Given the description of an element on the screen output the (x, y) to click on. 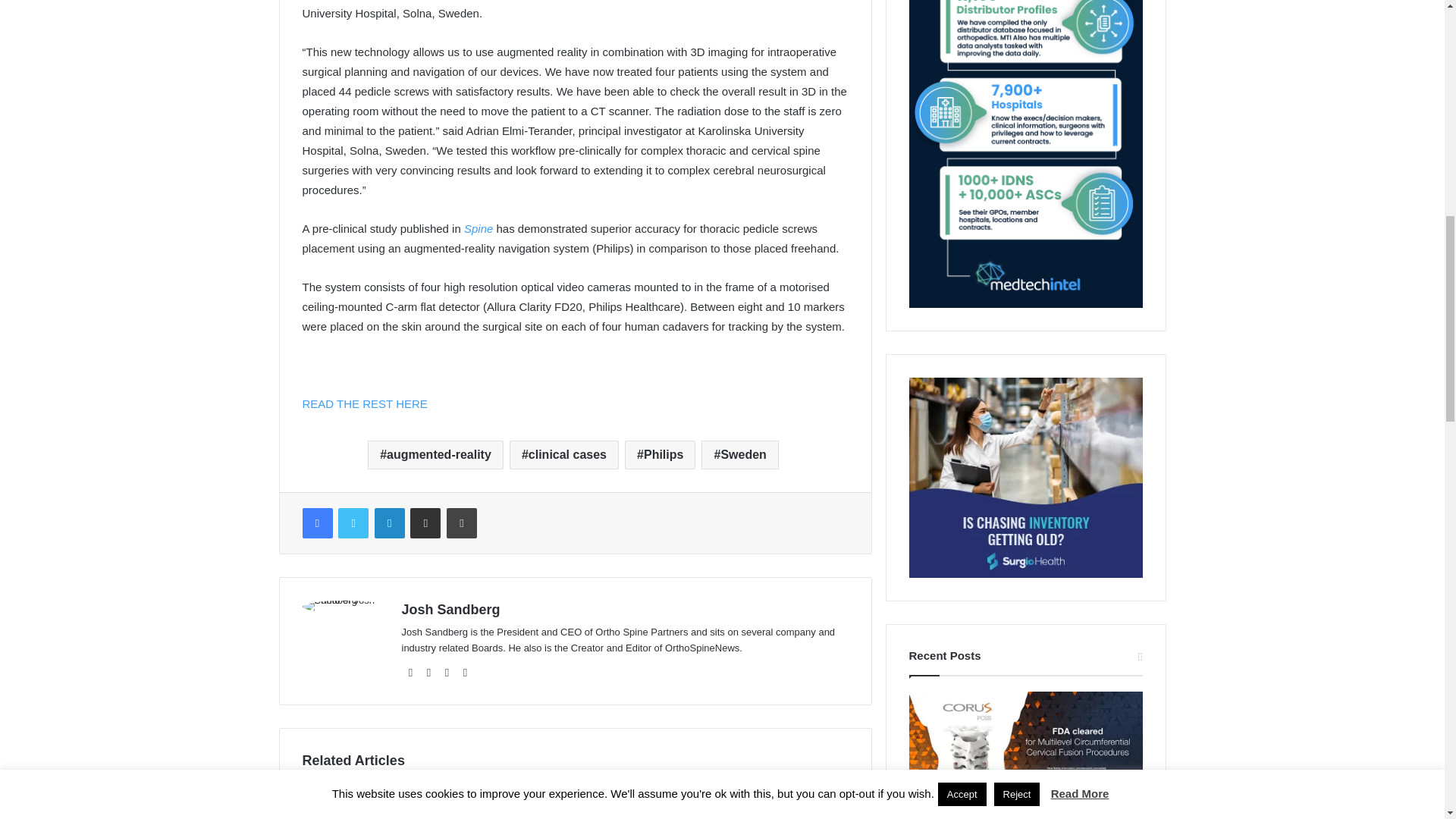
Spine (480, 228)
READ THE REST HERE (363, 403)
augmented-reality (435, 454)
clinical cases (563, 454)
LinkedIn (389, 522)
Facebook (316, 522)
Share via Email (425, 522)
Facebook (316, 522)
Philips (659, 454)
Twitter (352, 522)
Sweden (739, 454)
Print (461, 522)
